Given the description of an element on the screen output the (x, y) to click on. 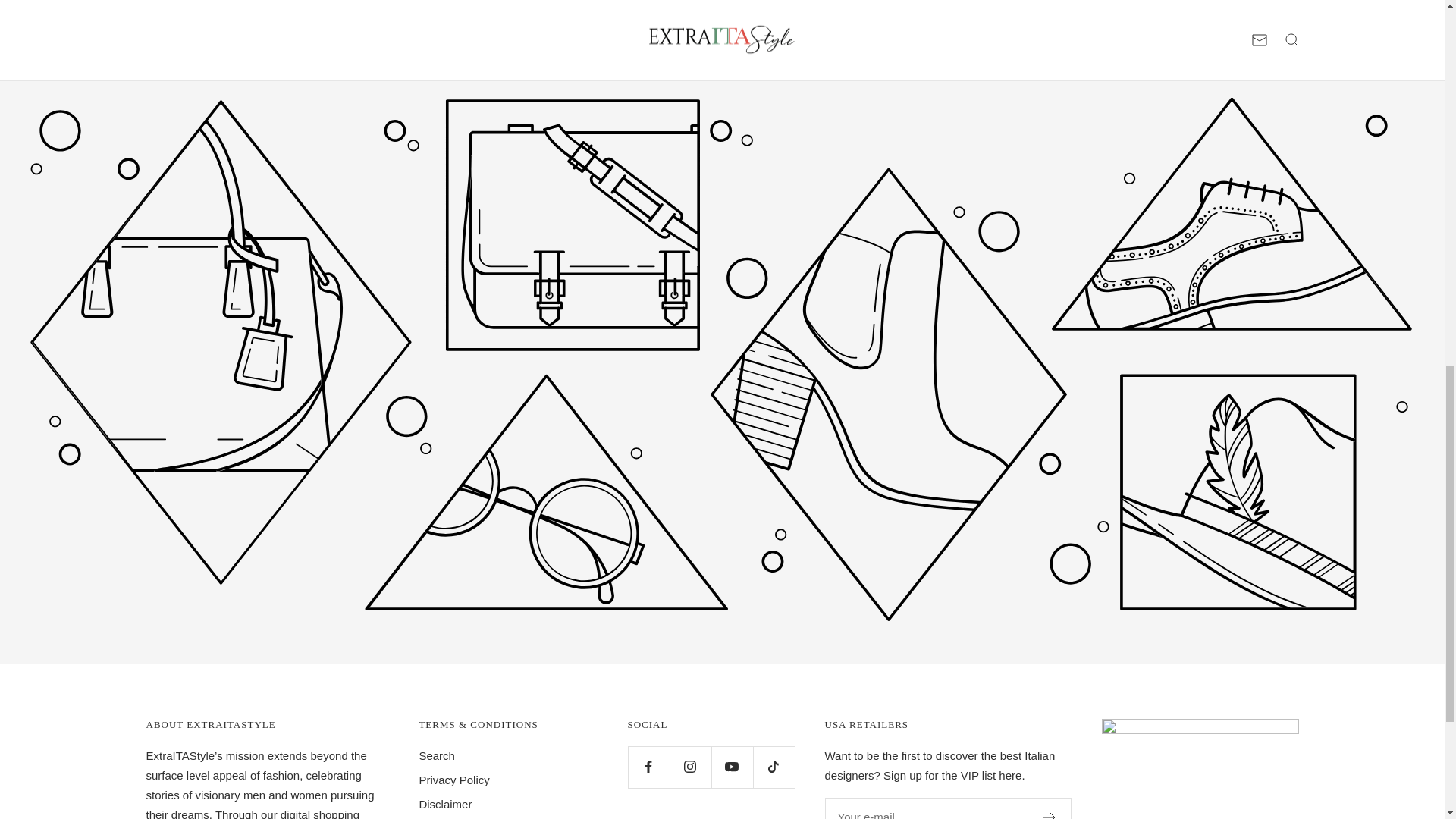
Privacy Policy (454, 780)
Register (1050, 815)
Search (436, 755)
Disclaimer (445, 804)
